Given the description of an element on the screen output the (x, y) to click on. 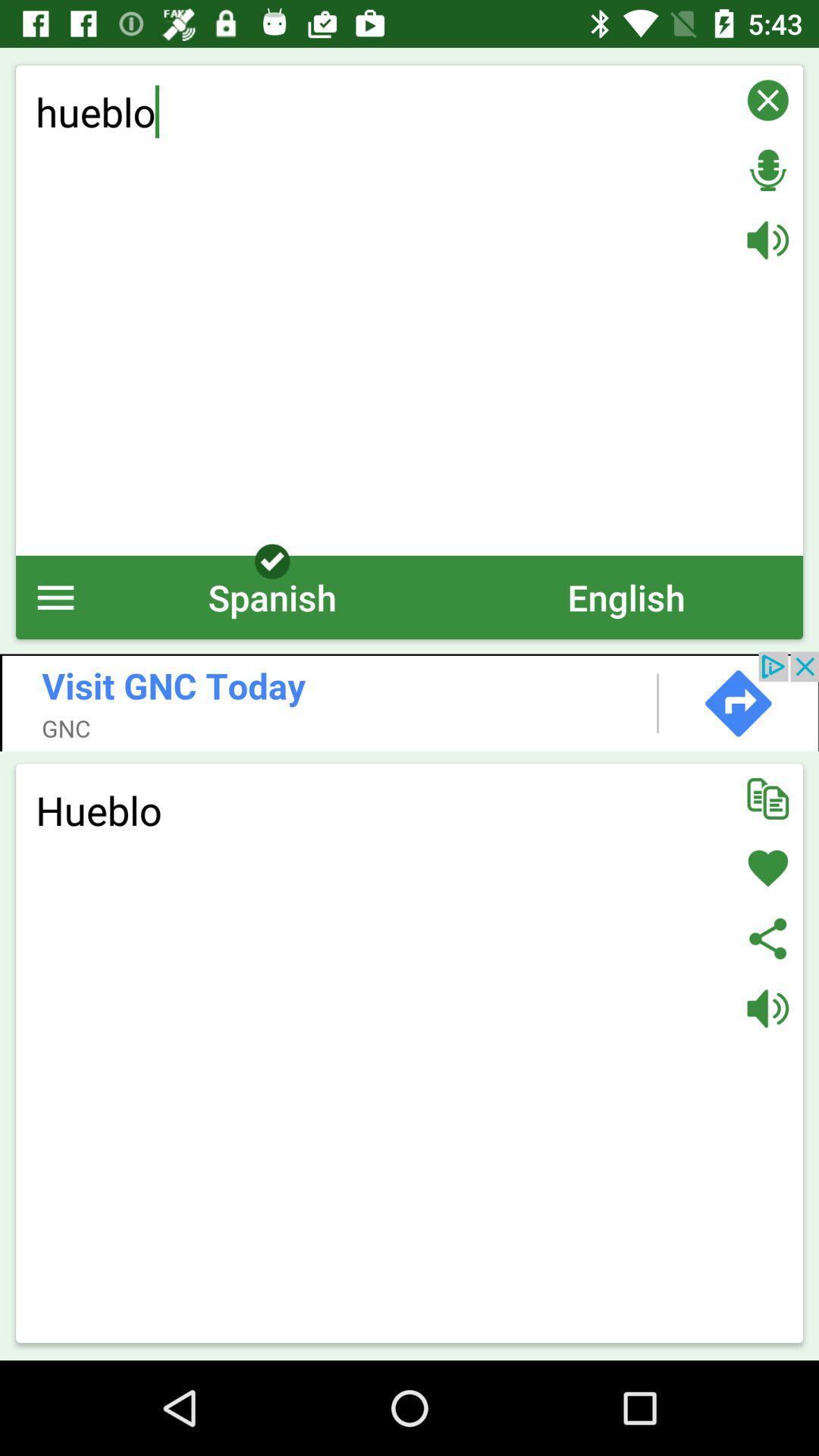
listen for voice input (768, 170)
